Given the description of an element on the screen output the (x, y) to click on. 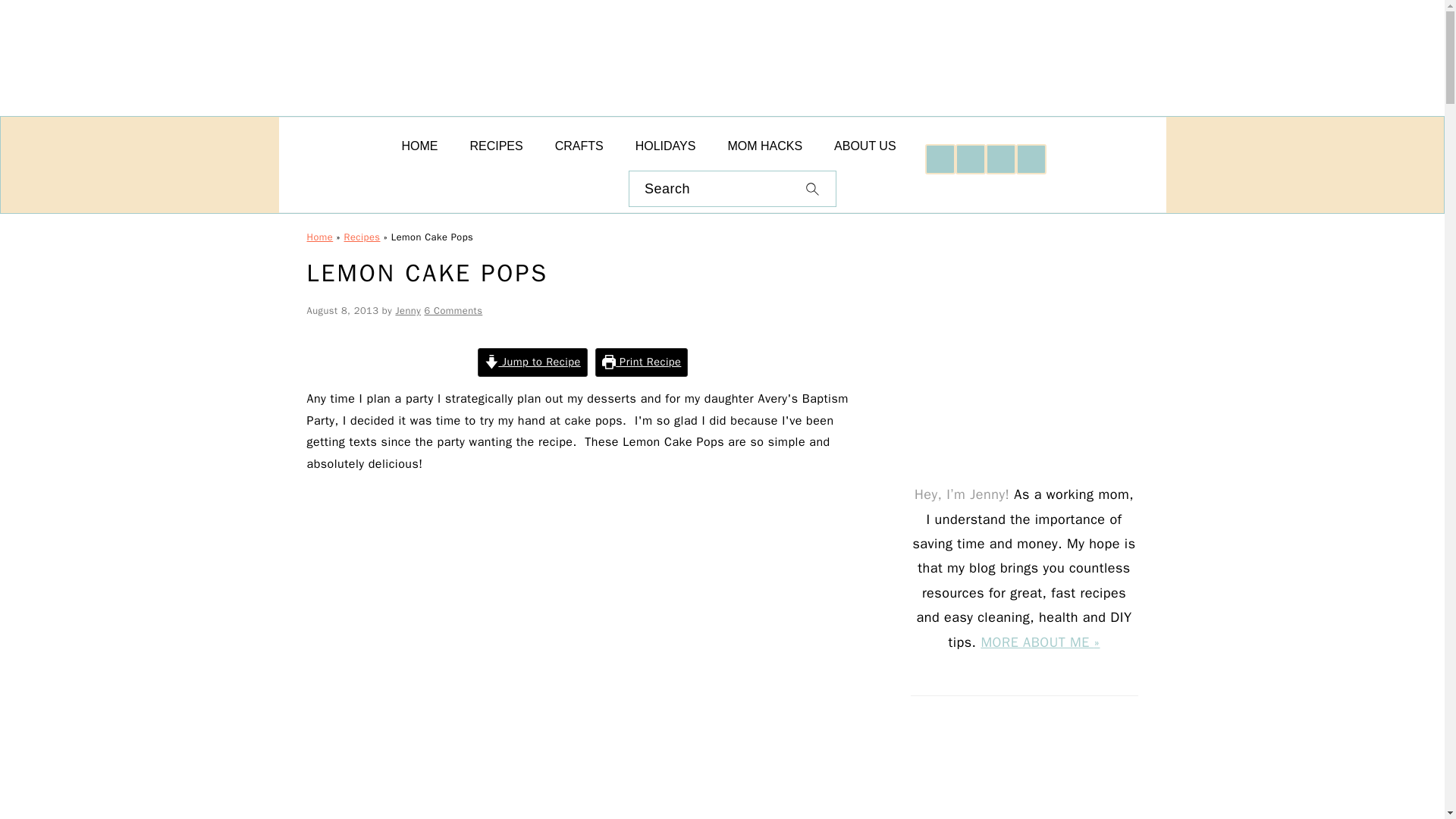
RECIPES (495, 146)
ABOUT US (865, 146)
CRAFTS (579, 146)
The Melrose Family (400, 50)
MOM HACKS (764, 146)
The Melrose Family (400, 110)
HOME (418, 146)
HOLIDAYS (665, 146)
